Given the description of an element on the screen output the (x, y) to click on. 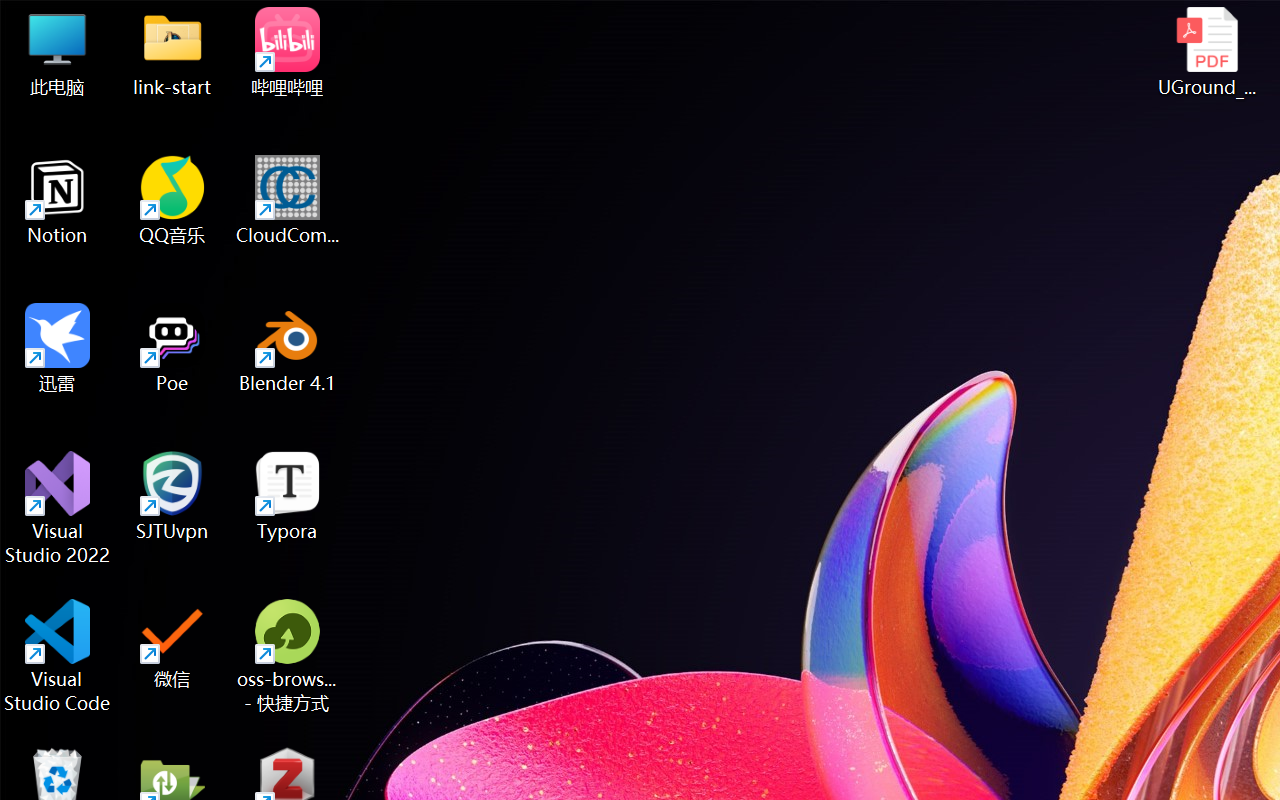
Typora (287, 496)
CloudCompare (287, 200)
Blender 4.1 (287, 348)
UGround_paper.pdf (1206, 52)
Visual Studio Code (57, 656)
SJTUvpn (172, 496)
Visual Studio 2022 (57, 508)
